Given the description of an element on the screen output the (x, y) to click on. 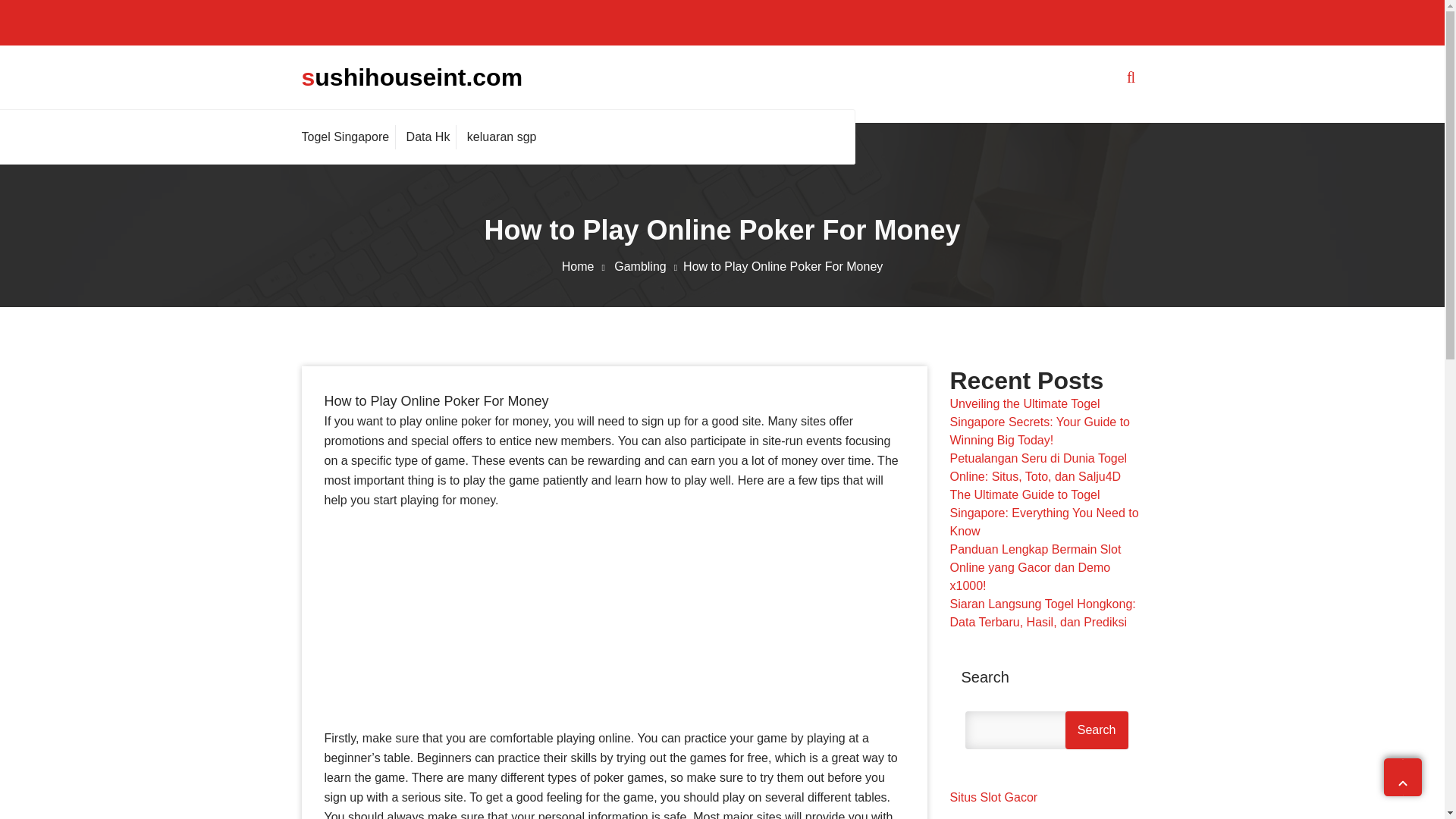
Data Hk (427, 136)
sushihouseint.com (411, 77)
Situs Slot Gacor (992, 797)
Togel Singapore (348, 136)
Search (1096, 730)
Home (586, 266)
Togel Singapore (348, 136)
keluaran sgp (501, 136)
Gambling (648, 266)
keluaran sgp (501, 136)
